Given the description of an element on the screen output the (x, y) to click on. 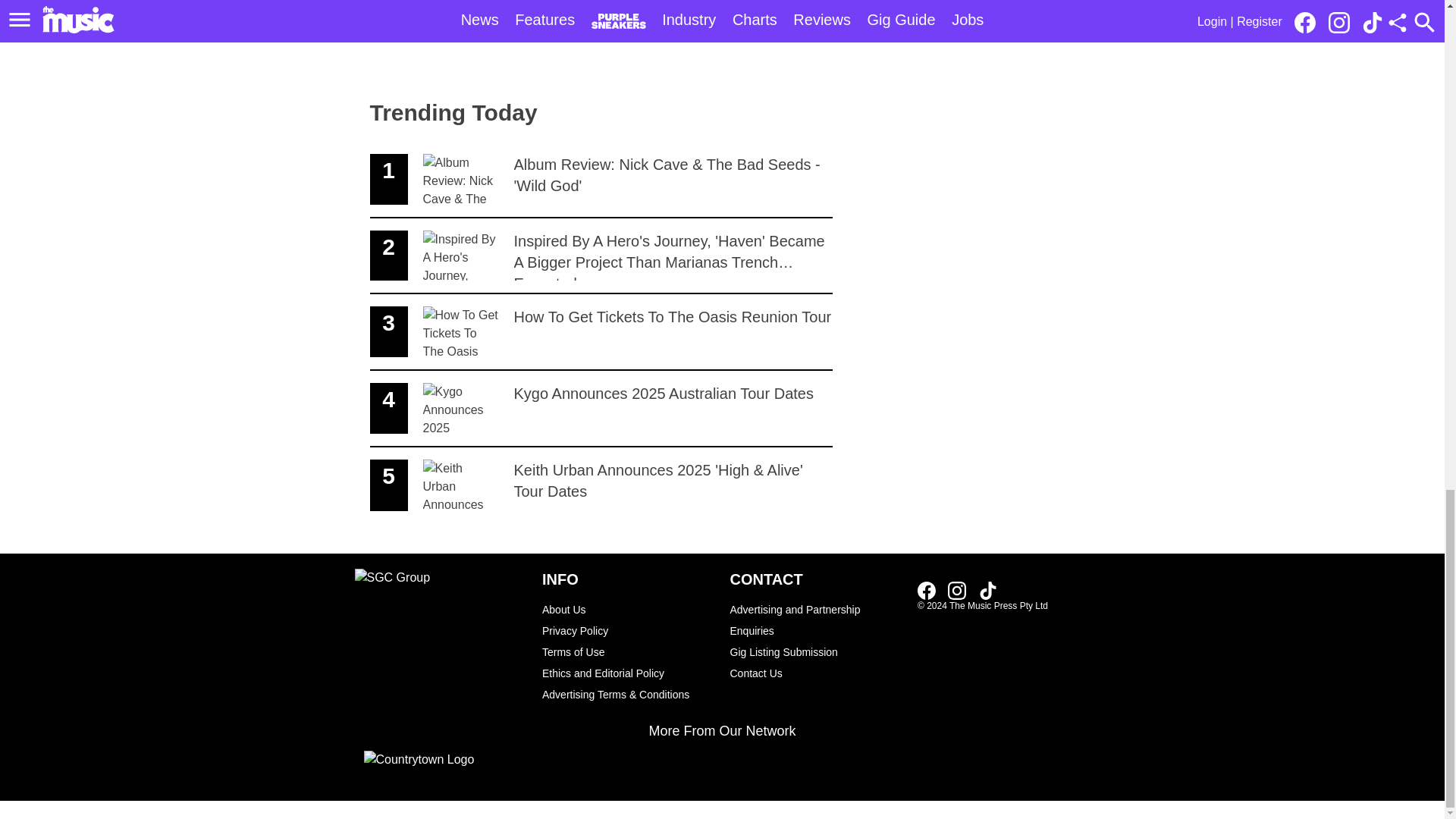
Link to our Facebook (930, 589)
Advertising and Partnership Enquiries (815, 619)
Link to our TikTok (987, 590)
Privacy Policy (627, 630)
Link to our Instagram (600, 409)
Contact Us (956, 590)
Ethics and Editorial Policy (815, 672)
Link to our Facebook (627, 672)
